Given the description of an element on the screen output the (x, y) to click on. 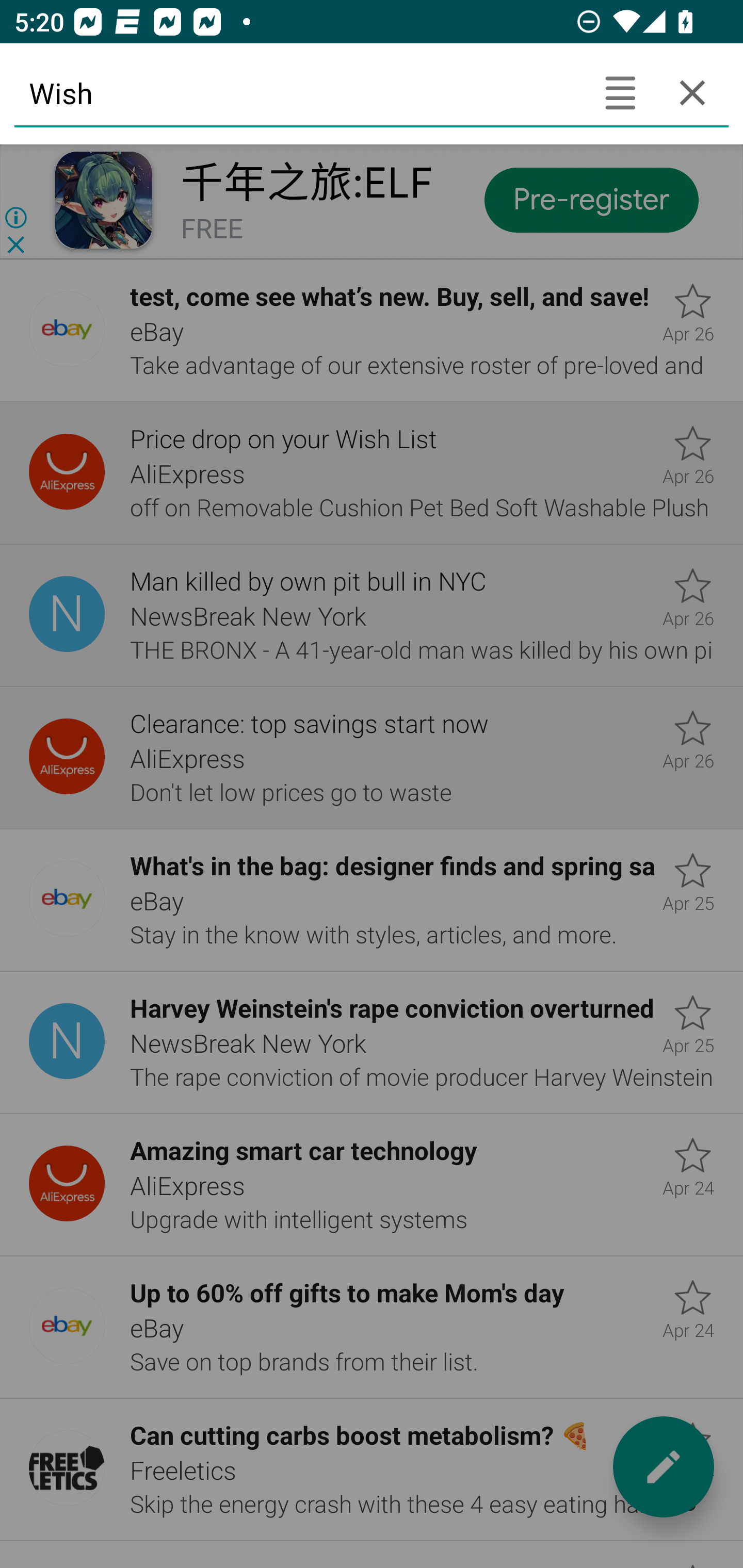
Wish (298, 92)
Search headers only (619, 92)
Cancel (692, 92)
